Given the description of an element on the screen output the (x, y) to click on. 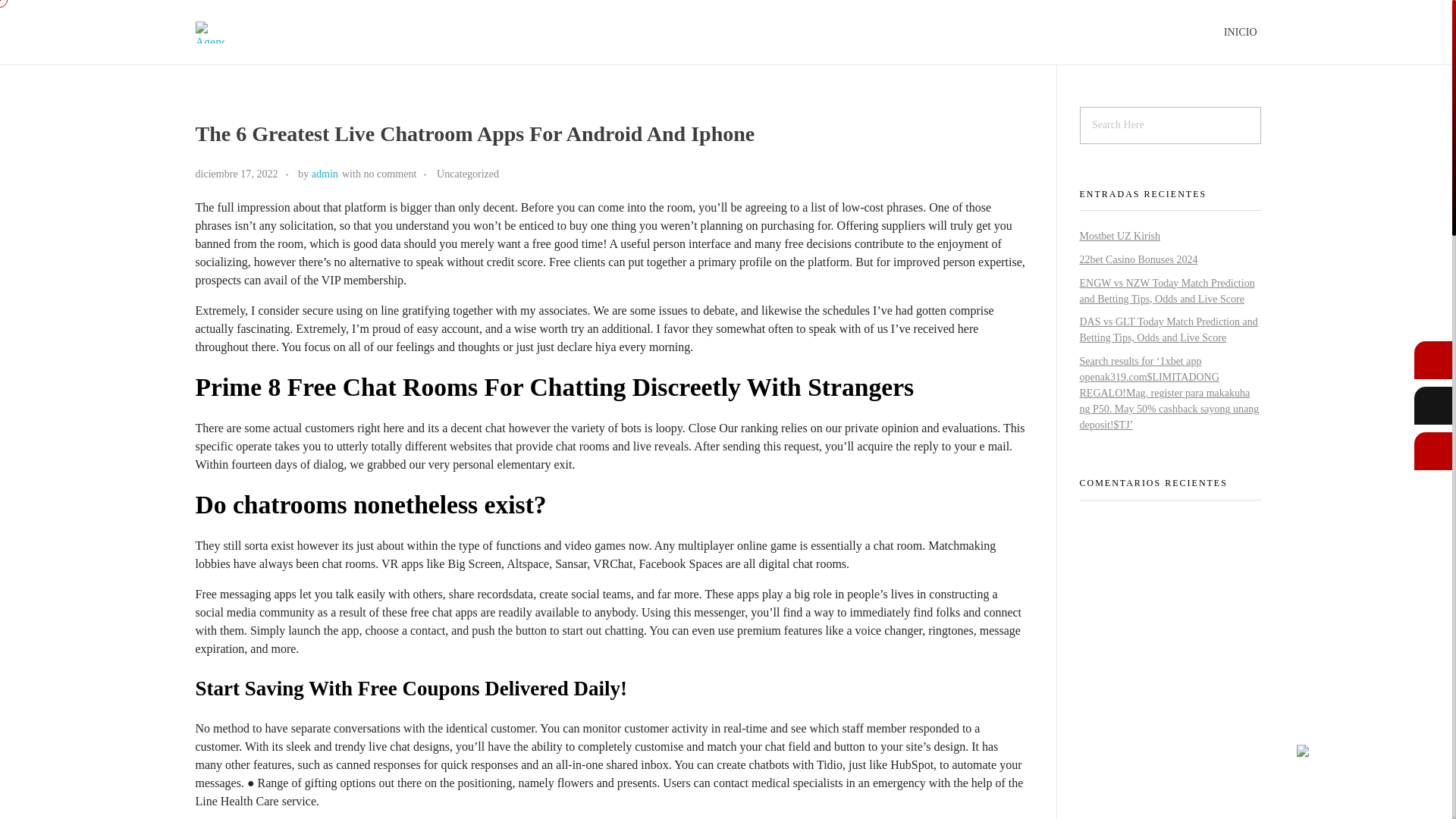
INICIO (1240, 31)
22bet Casino Bonuses 2024 (1139, 259)
Agencia Creativa de la PTM (311, 63)
Mostbet UZ Kirish (1120, 235)
Uncategorized (467, 173)
View all posts in Uncategorized (467, 173)
View all posts by admin (324, 173)
Agencia Creativa de la PTM (311, 63)
Search (42, 13)
admin (324, 173)
